Given the description of an element on the screen output the (x, y) to click on. 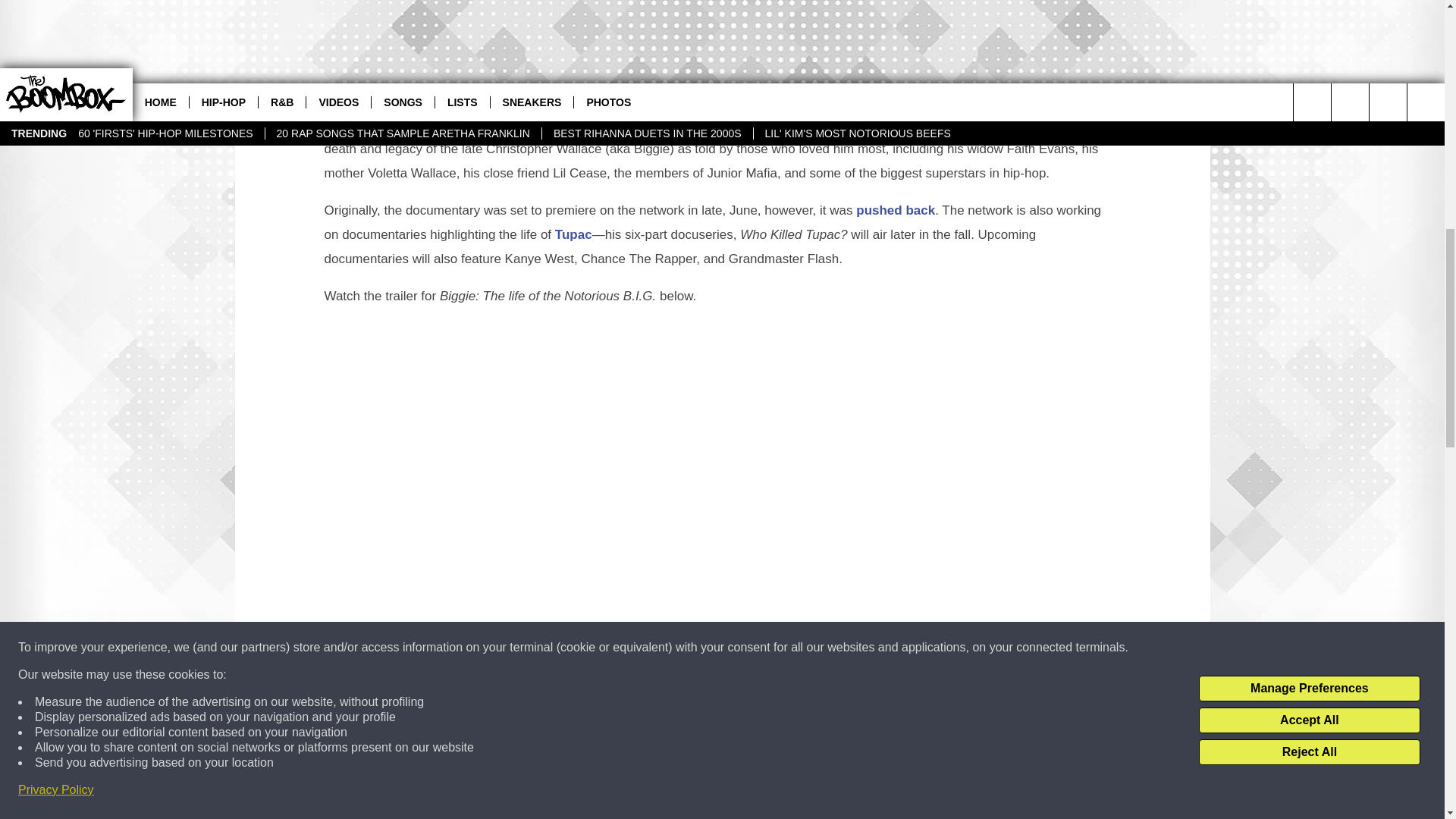
pushed back (895, 210)
Television (452, 766)
Hip-Hop (404, 766)
Jay-Z (438, 741)
Biggie (403, 741)
JAY-Z a (914, 63)
Nas (466, 741)
Tupac (573, 234)
Notorious BIG (514, 741)
Nas (968, 63)
Biggie (629, 25)
